Given the description of an element on the screen output the (x, y) to click on. 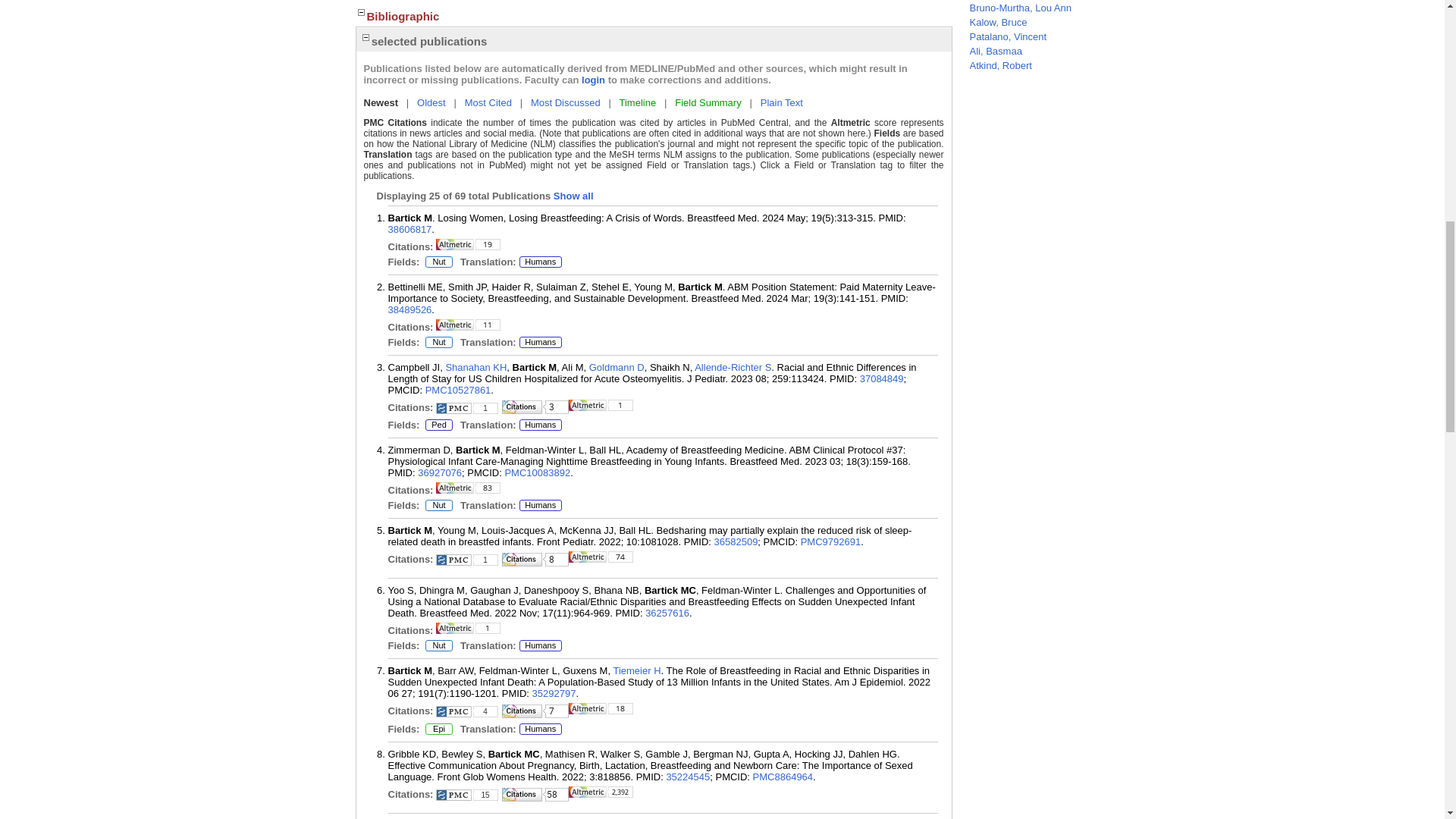
Most Discussed (565, 102)
Oldest (430, 102)
Show all (573, 195)
Plain Text (781, 102)
login (592, 79)
Most Cited (488, 102)
Timeline (638, 102)
Newest (381, 102)
Field Summary (708, 102)
selected publications (423, 41)
